Given the description of an element on the screen output the (x, y) to click on. 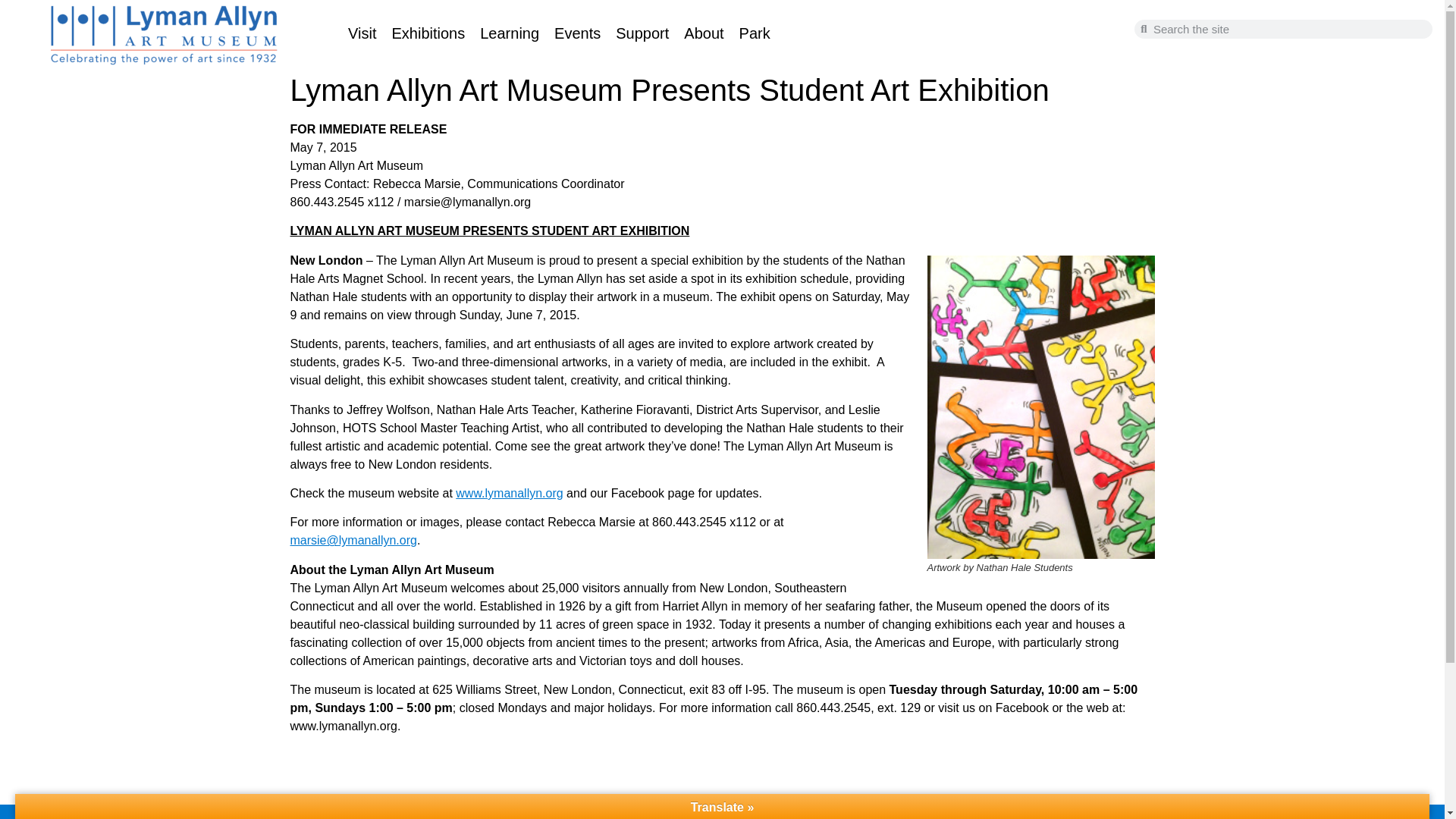
Visit (361, 32)
Support (641, 32)
Learning (509, 32)
Events (576, 32)
Exhibitions (428, 32)
